Given the description of an element on the screen output the (x, y) to click on. 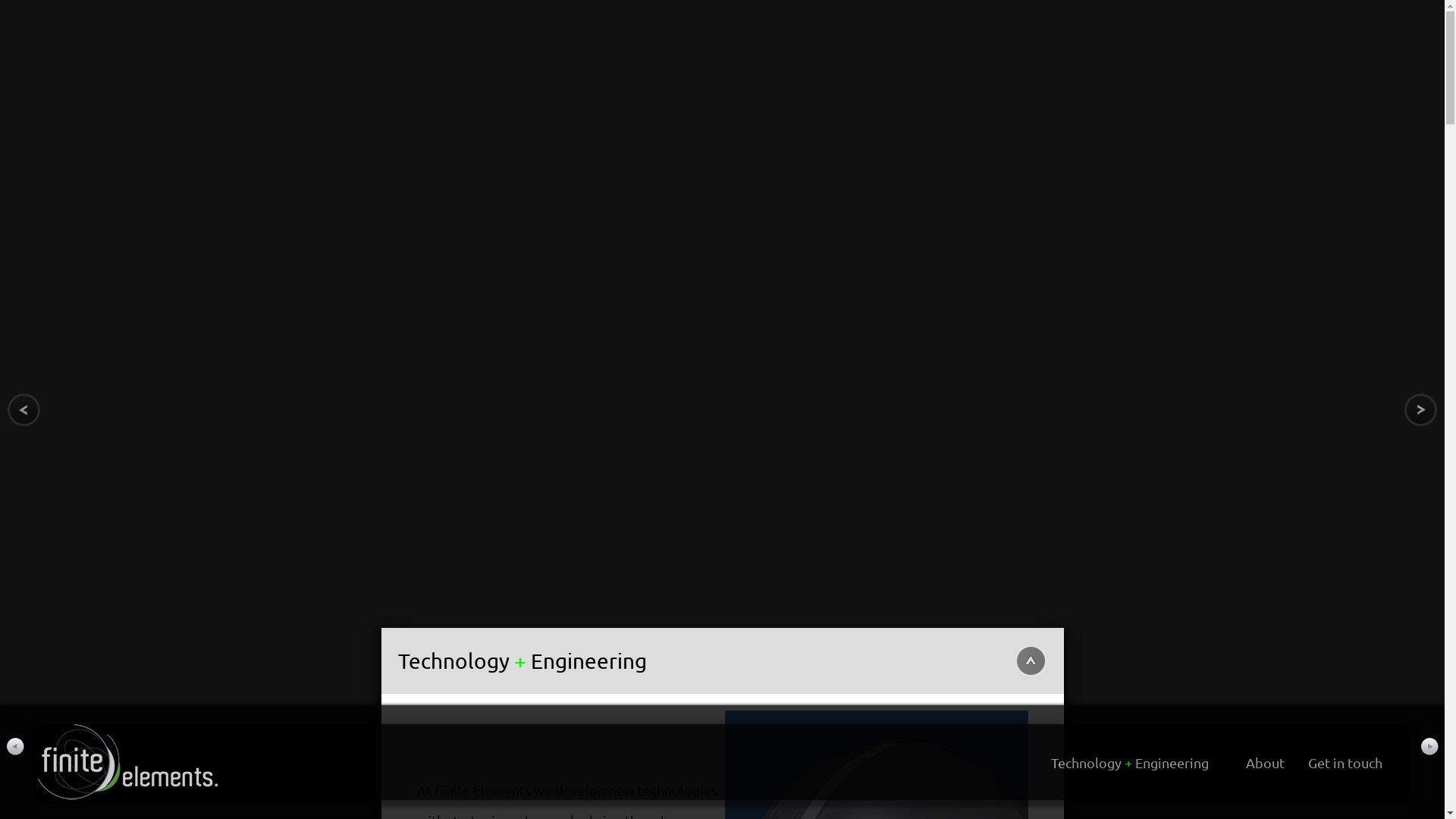
Get in touch Element type: text (1345, 762)
About Element type: text (1264, 762)
Technology + Engineering Element type: text (1129, 762)
